Given the description of an element on the screen output the (x, y) to click on. 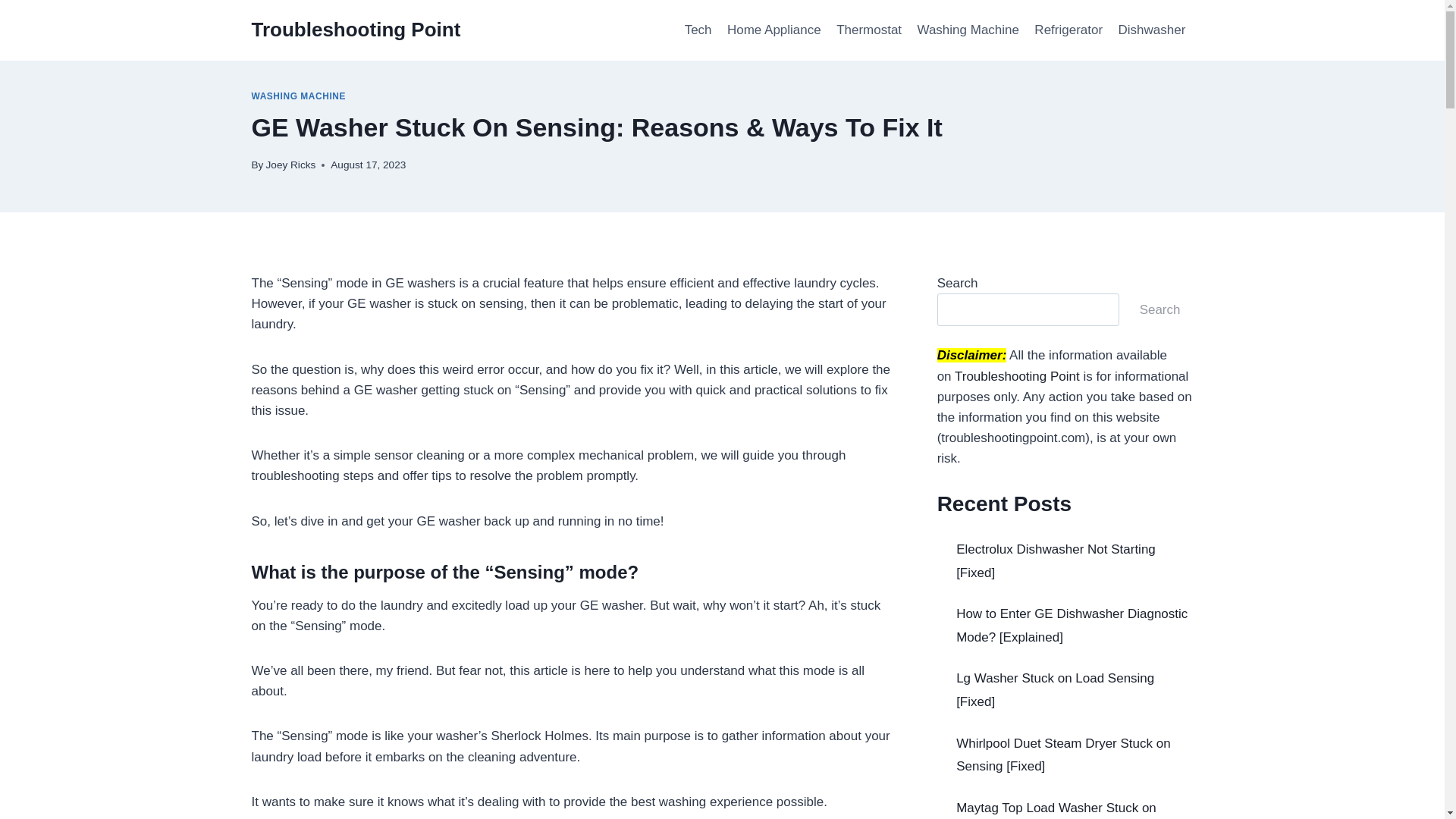
Troubleshooting Point (356, 29)
Joey Ricks (290, 164)
Refrigerator (1067, 30)
Thermostat (868, 30)
Tech (698, 30)
WASHING MACHINE (298, 95)
Dishwasher (1150, 30)
Washing Machine (967, 30)
Home Appliance (773, 30)
